Given the description of an element on the screen output the (x, y) to click on. 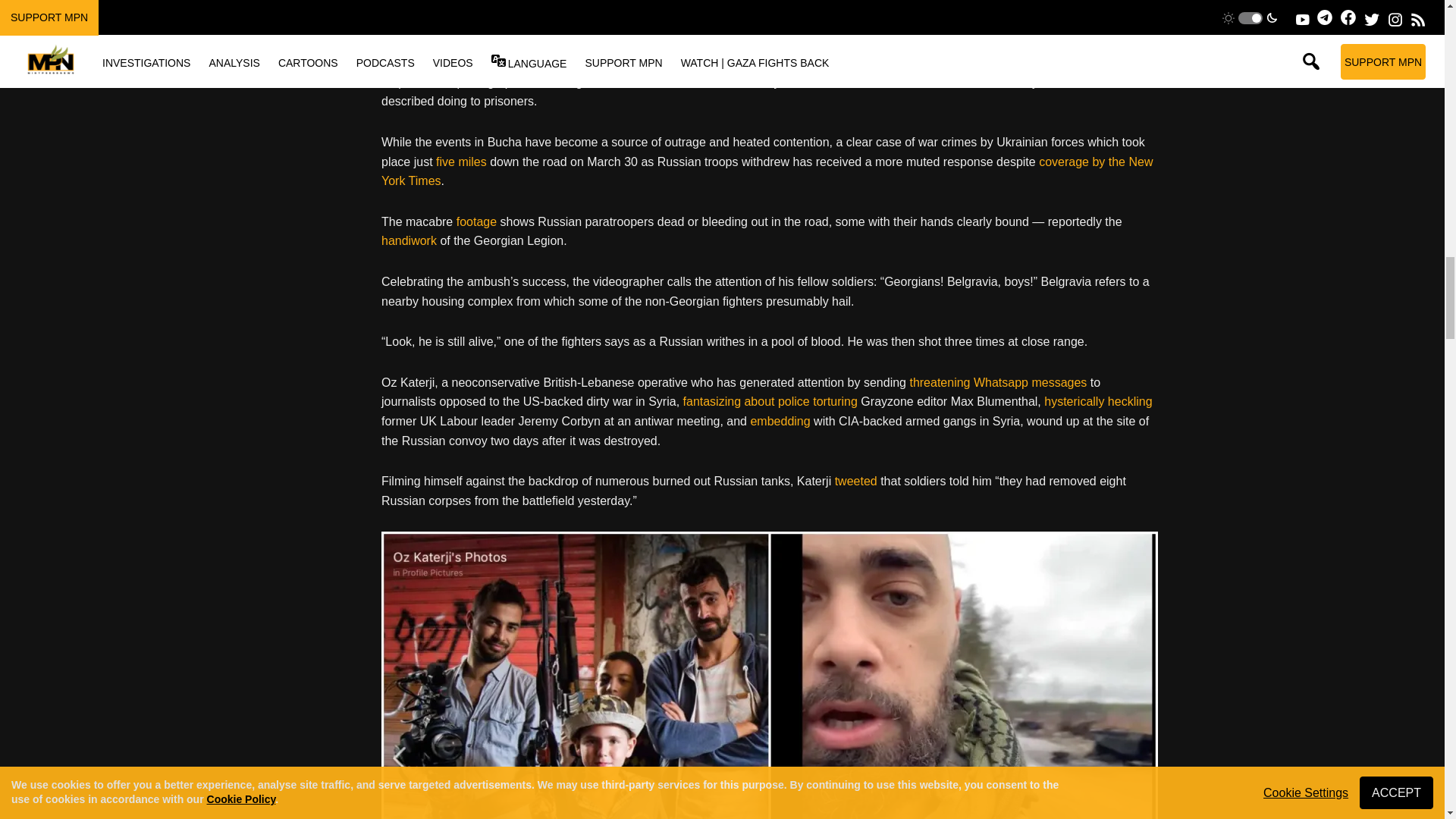
five miles (460, 161)
